Given the description of an element on the screen output the (x, y) to click on. 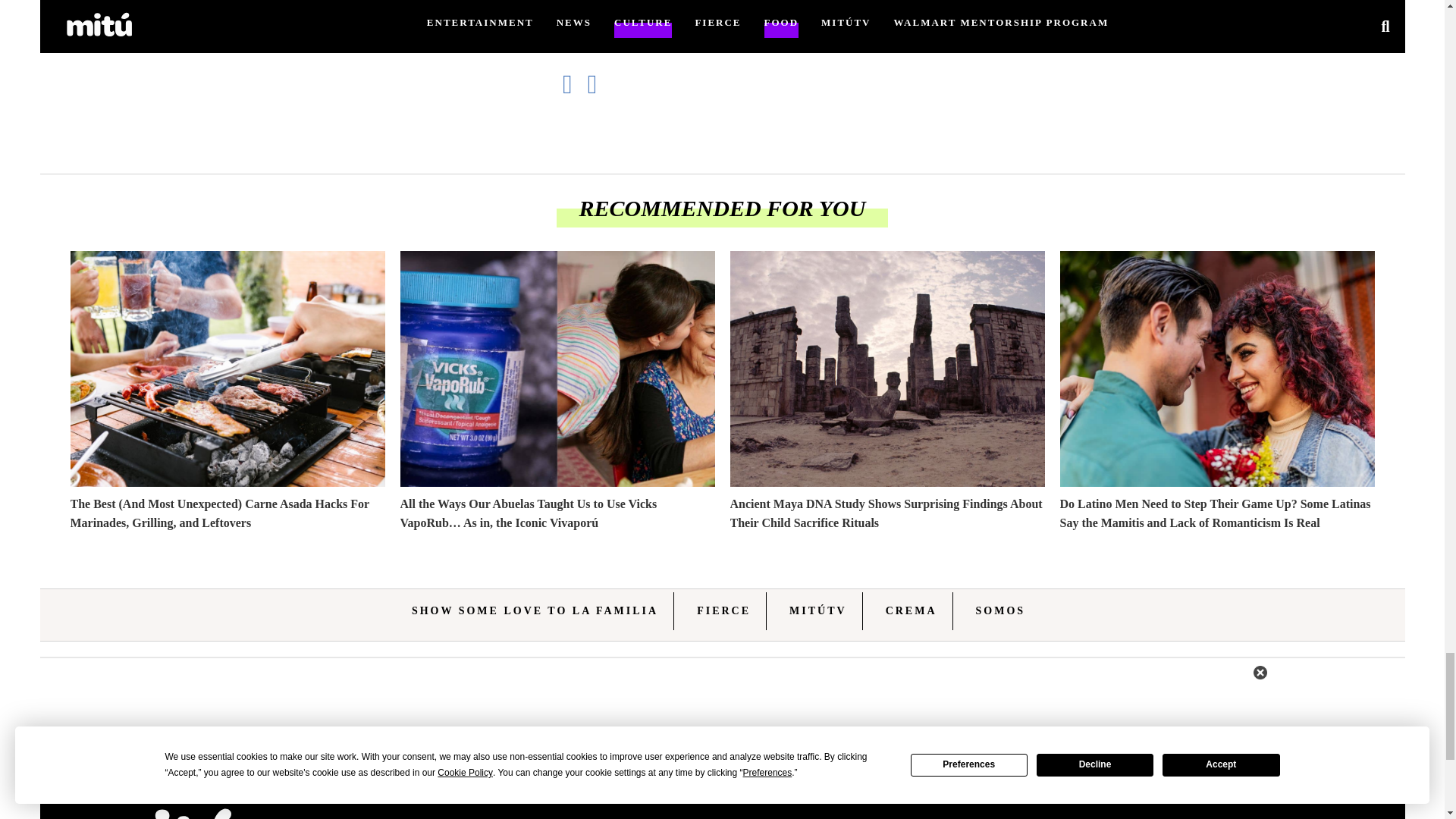
Share via Email (600, 84)
Share on Facebook (575, 84)
